Given the description of an element on the screen output the (x, y) to click on. 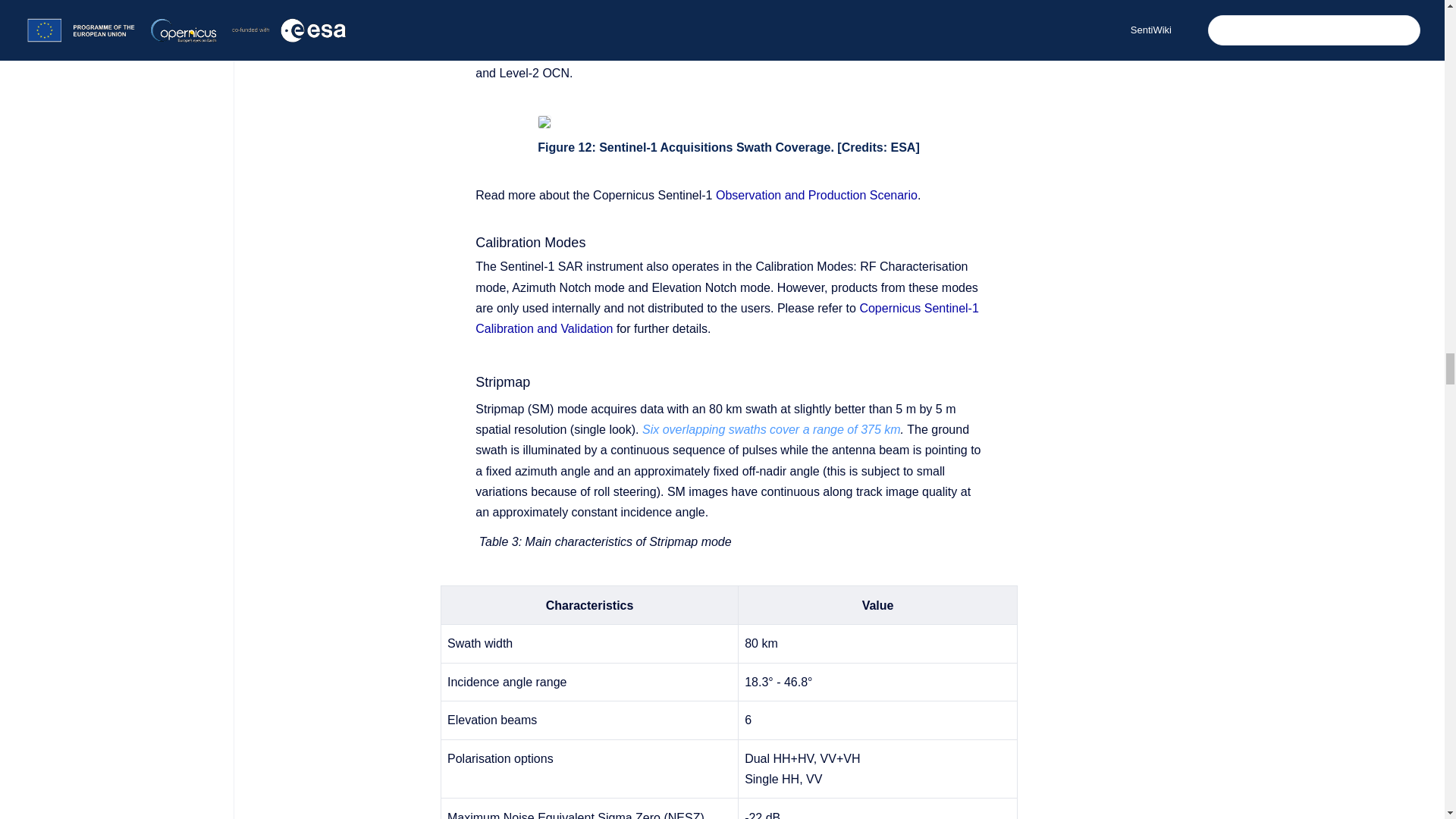
Observation and Production Scenario (816, 195)
Copernicus Sentinel-1 Calibration and Validation (727, 318)
